Given the description of an element on the screen output the (x, y) to click on. 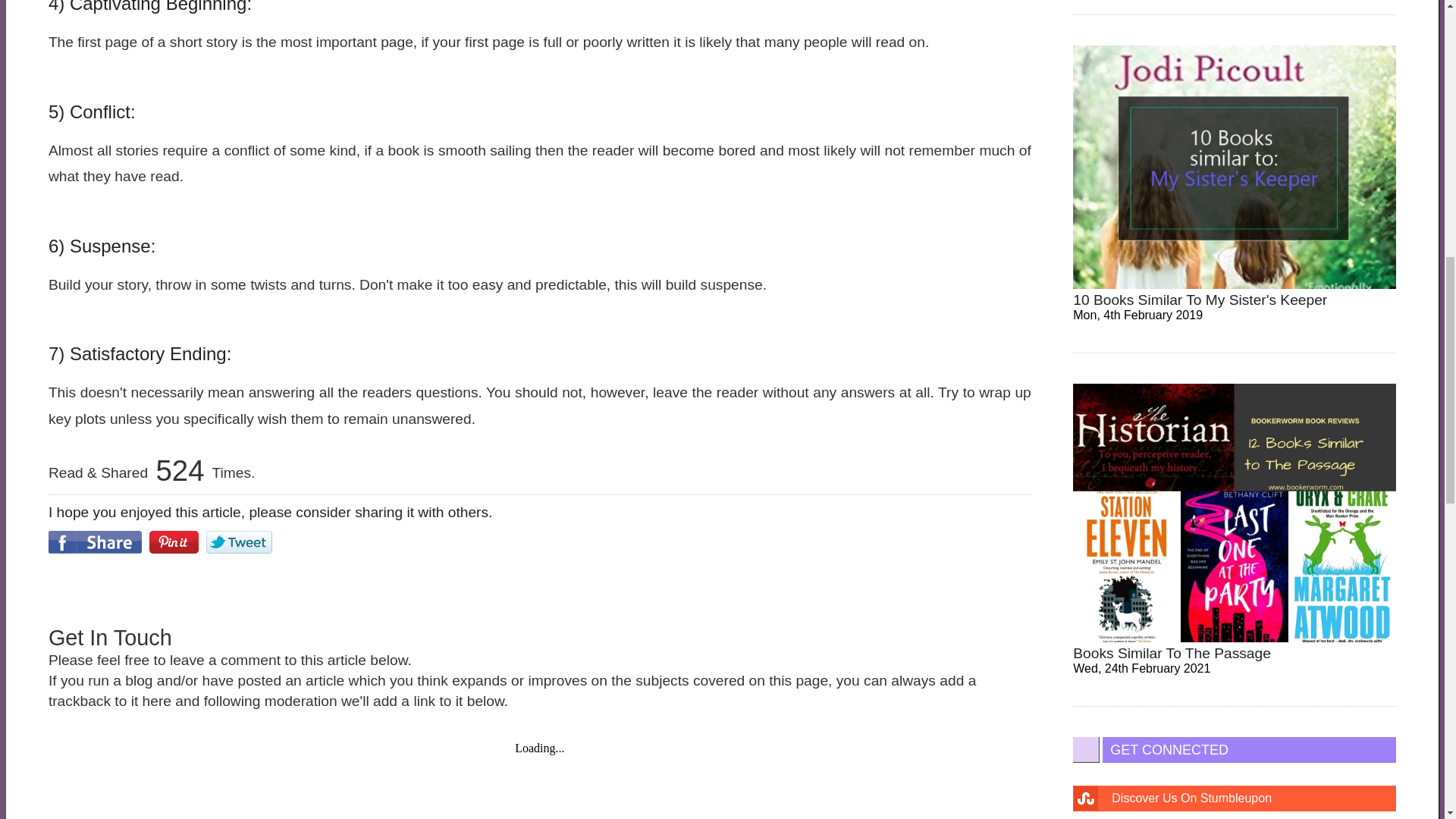
10 Books Similar To My Sister'S Keeper (1199, 299)
Like (94, 541)
Pin It (173, 541)
Books Similar To The Passage (1172, 652)
Discover Us On Stumbleupon (1234, 798)
Tweet (239, 541)
